Given the description of an element on the screen output the (x, y) to click on. 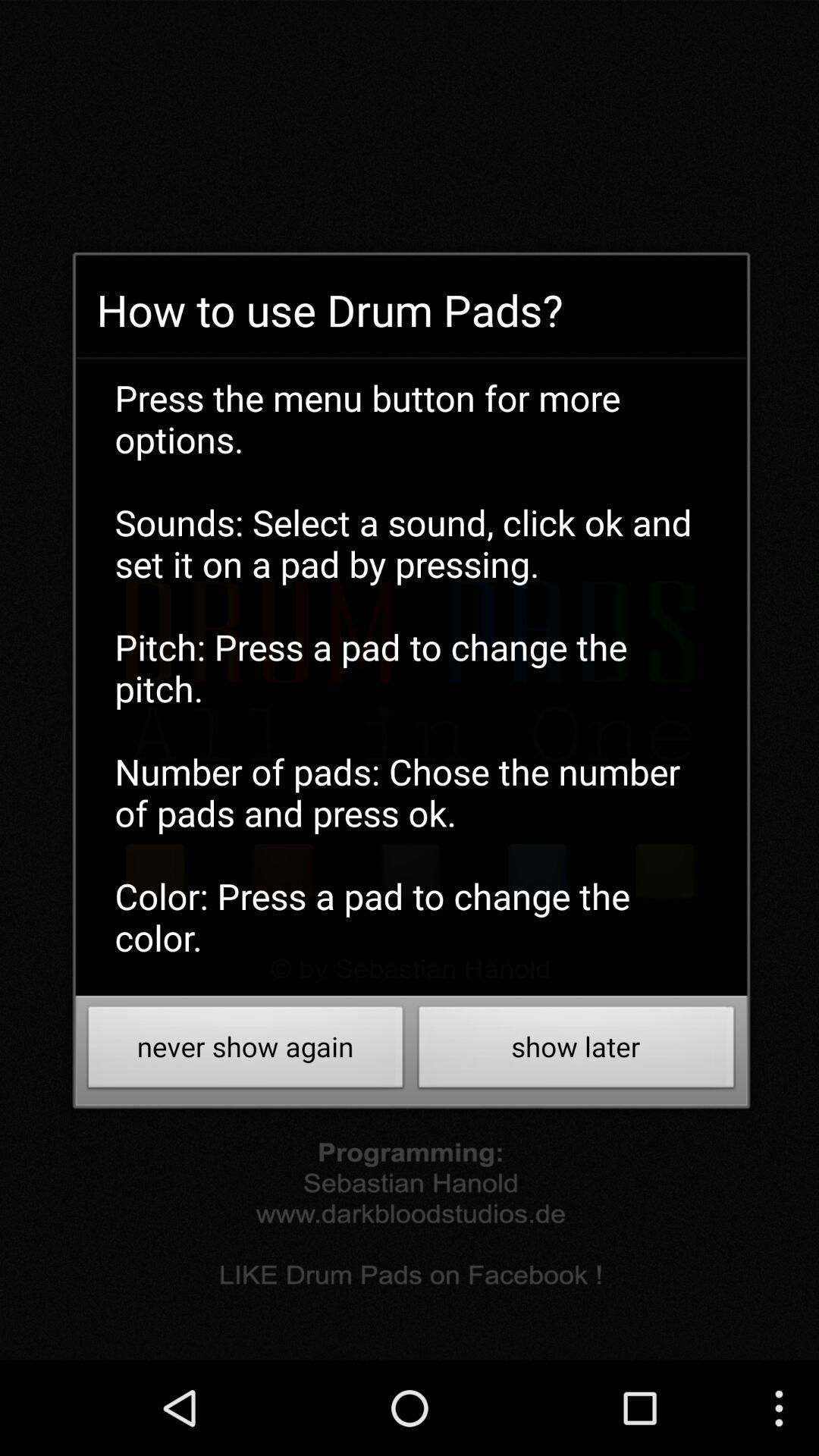
open item next to the show later button (245, 1051)
